Given the description of an element on the screen output the (x, y) to click on. 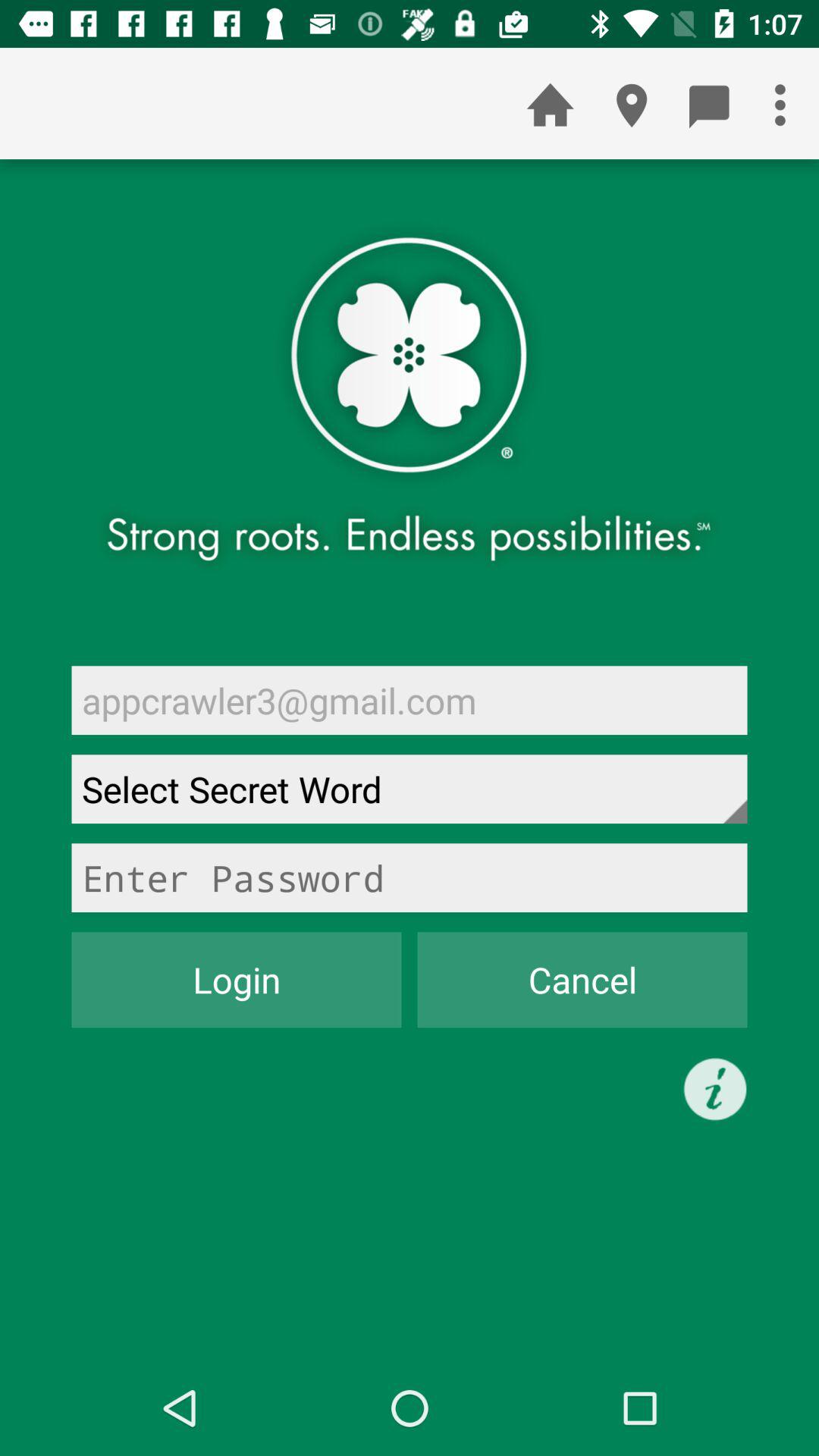
turn off the appcrawler3@gmail.com item (409, 700)
